Given the description of an element on the screen output the (x, y) to click on. 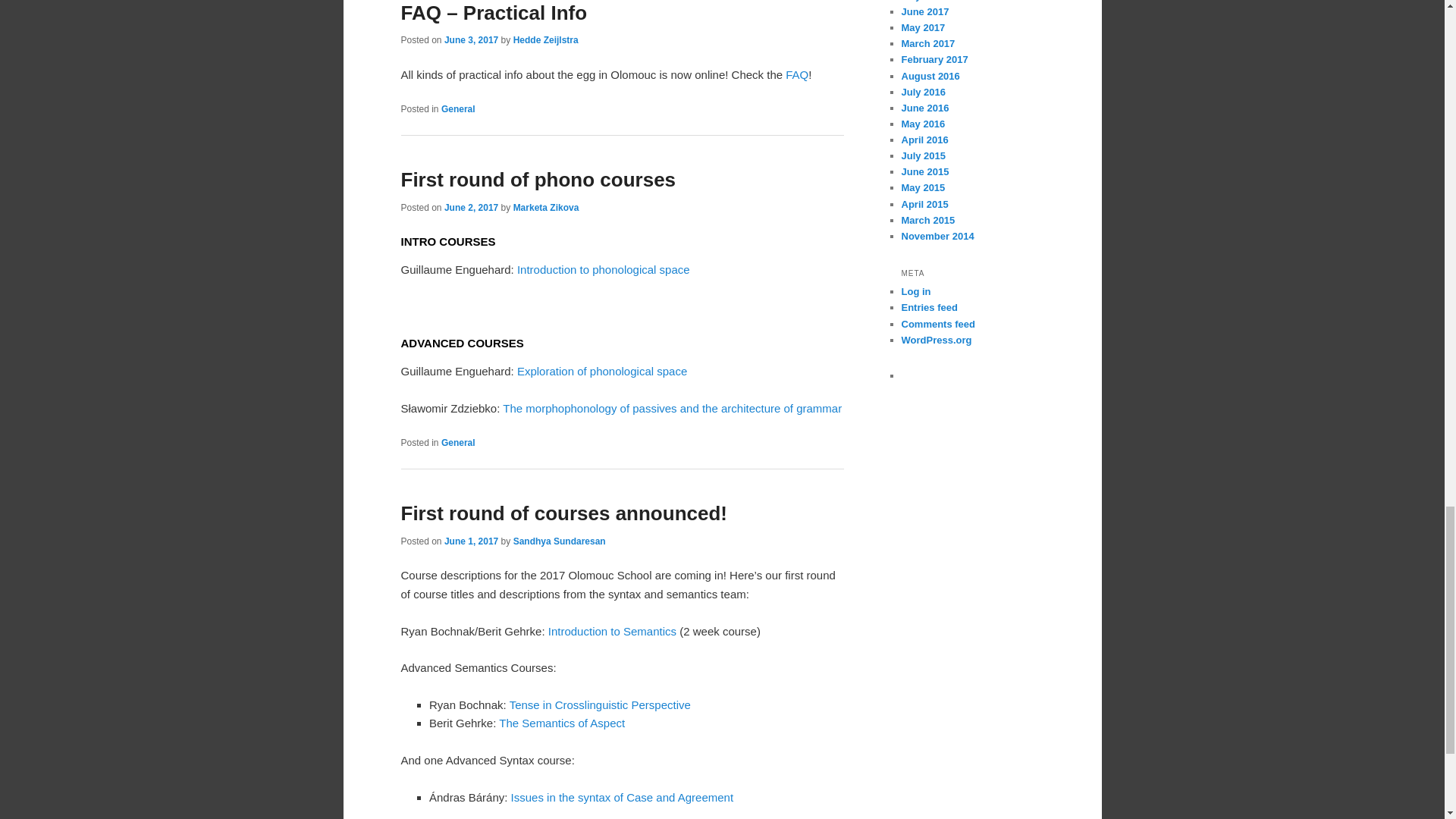
View all posts by Marketa Zikova (546, 207)
5:19 pm (470, 40)
View all posts by Sandhya Sundaresan (559, 541)
View all posts by Hedde Zeijlstra (545, 40)
12:51 pm (470, 207)
2:42 pm (470, 541)
